Given the description of an element on the screen output the (x, y) to click on. 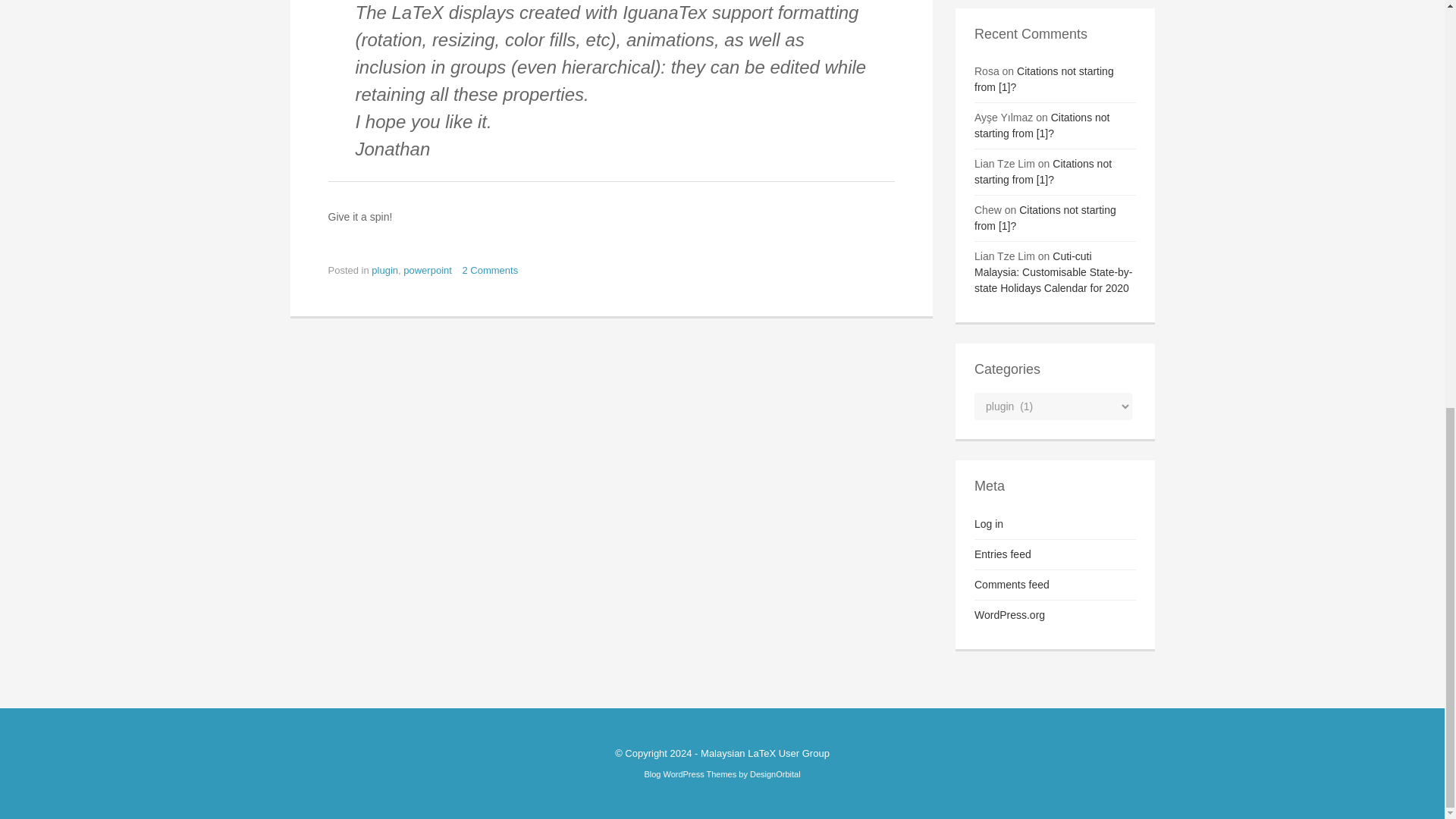
Log in (988, 523)
Entries feed (1002, 553)
Comments feed (1011, 584)
Blog WordPress Themes (689, 773)
Malaysian LaTeX User Group (764, 753)
2 Comments (490, 270)
plugin (384, 270)
powerpoint (427, 270)
WordPress.org (1009, 614)
